Given the description of an element on the screen output the (x, y) to click on. 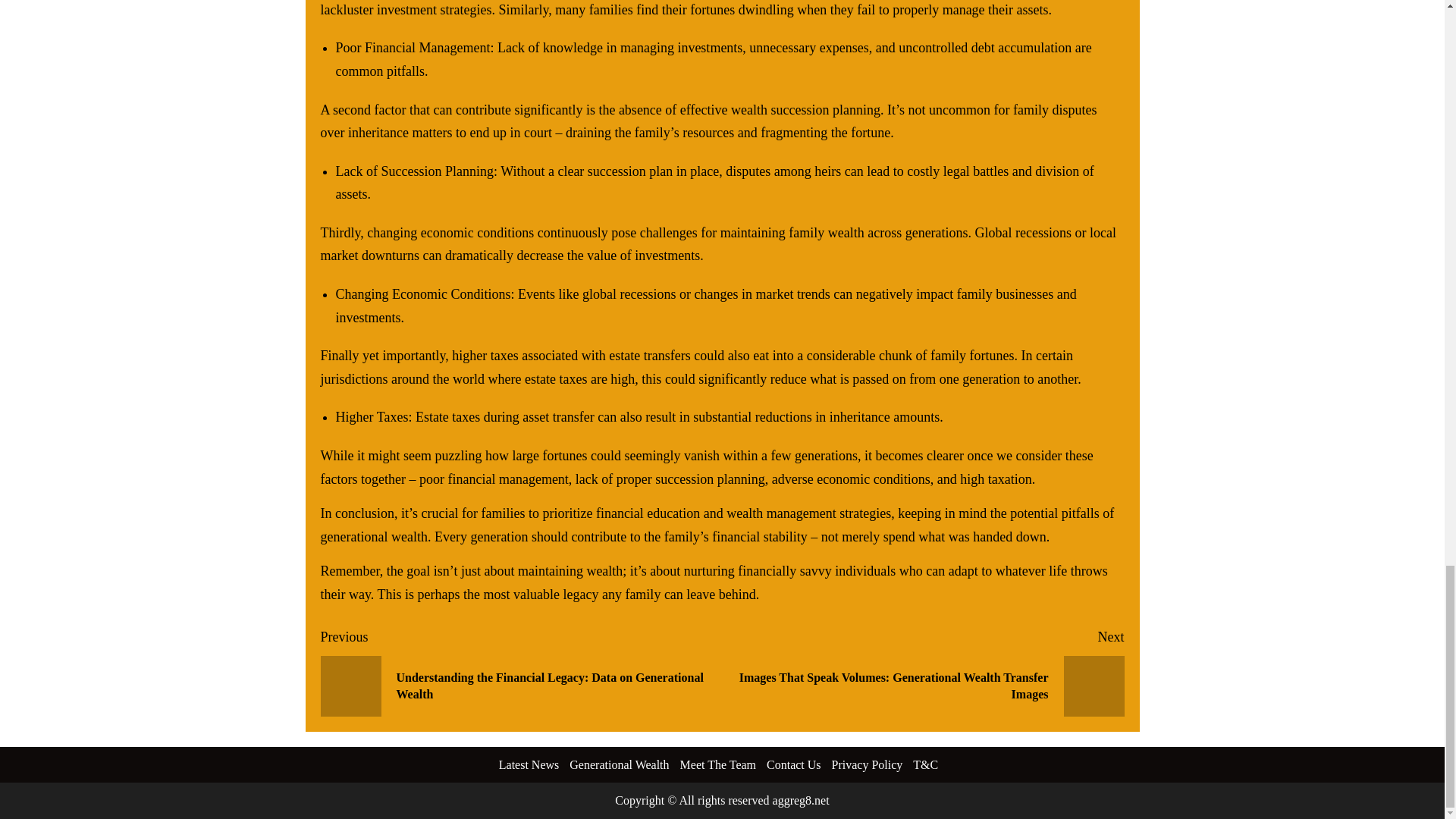
Meet The Team (717, 764)
Generational Wealth (618, 764)
Latest News (529, 764)
Privacy Policy (866, 764)
Contact Us (794, 764)
